Given the description of an element on the screen output the (x, y) to click on. 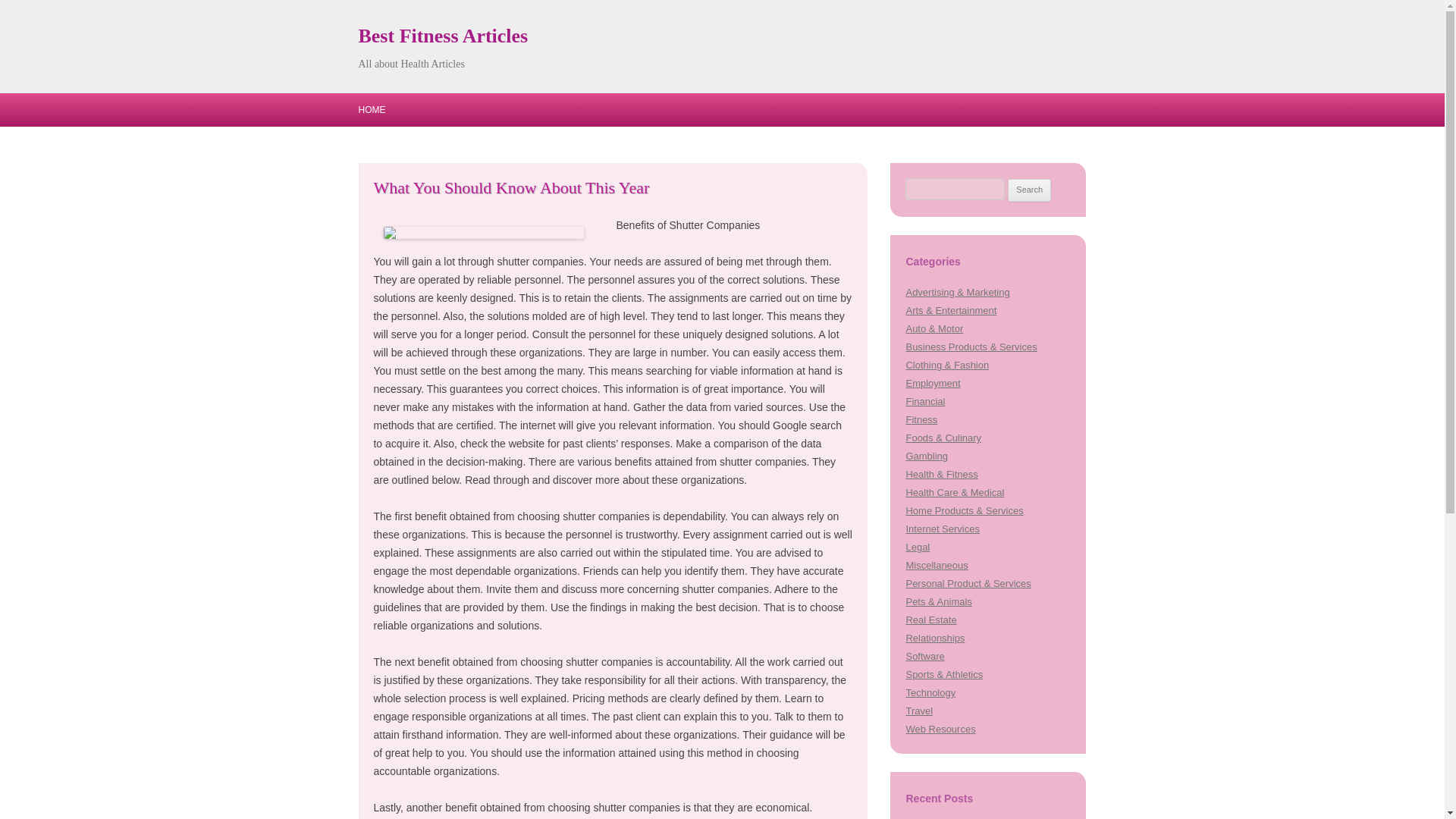
Financial (924, 401)
Legal (917, 546)
Fitness (921, 419)
Search (1029, 190)
Travel (919, 710)
Technology (930, 692)
Miscellaneous (936, 564)
Web Resources (940, 728)
Real Estate (930, 619)
Best Fitness Articles (442, 36)
